Given the description of an element on the screen output the (x, y) to click on. 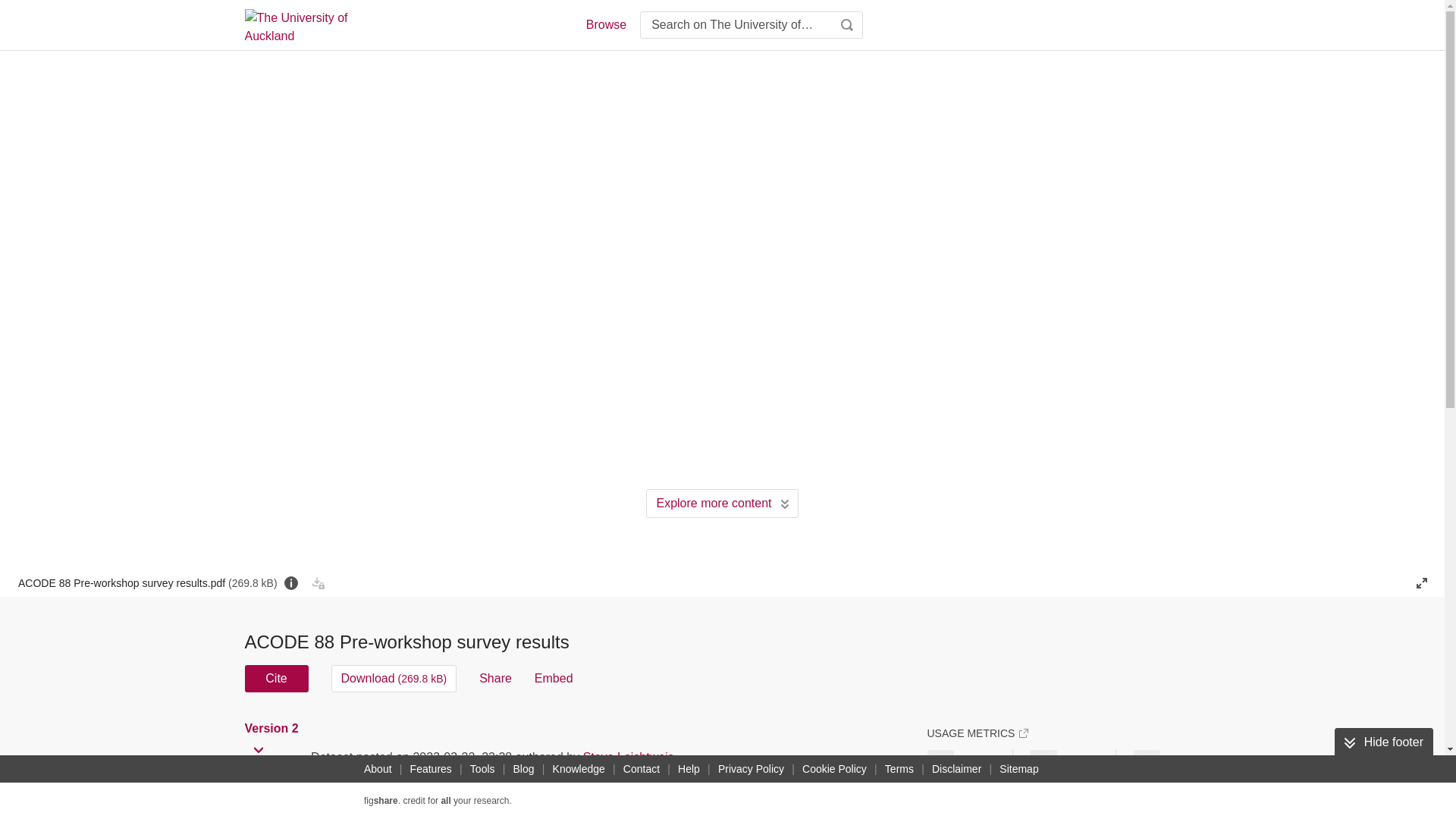
Embed (553, 678)
Browse (605, 24)
About (377, 769)
Hide footer (1383, 742)
Features (431, 769)
USAGE METRICS (976, 732)
Steve Leichtweis (628, 757)
Version 2 (273, 728)
Explore more content (721, 502)
Tools (482, 769)
ACODE 88 Pre-workshop survey results.pdf (147, 583)
Share (495, 678)
Cite (275, 678)
